Given the description of an element on the screen output the (x, y) to click on. 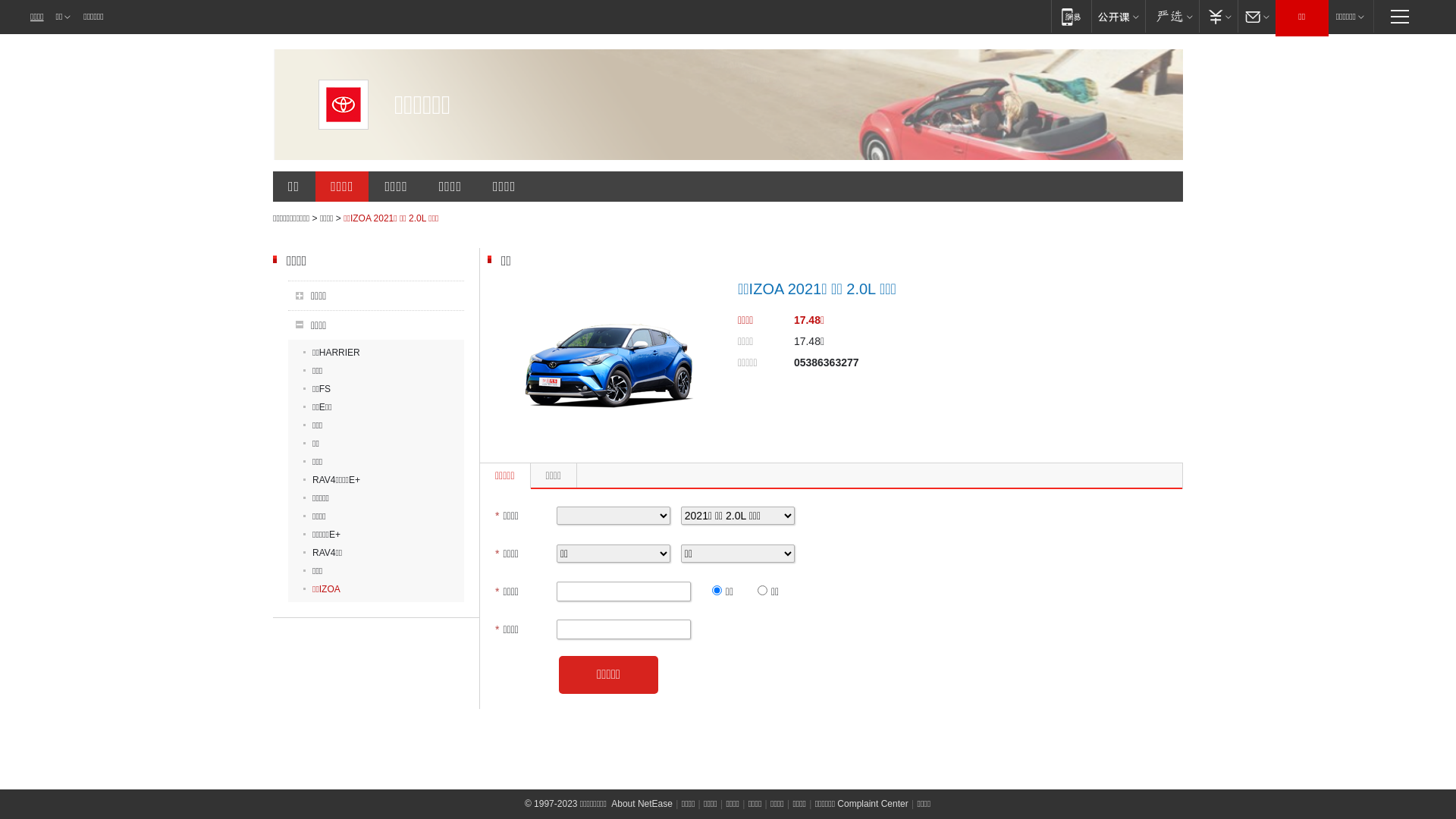
About NetEase Element type: text (641, 803)
